Given the description of an element on the screen output the (x, y) to click on. 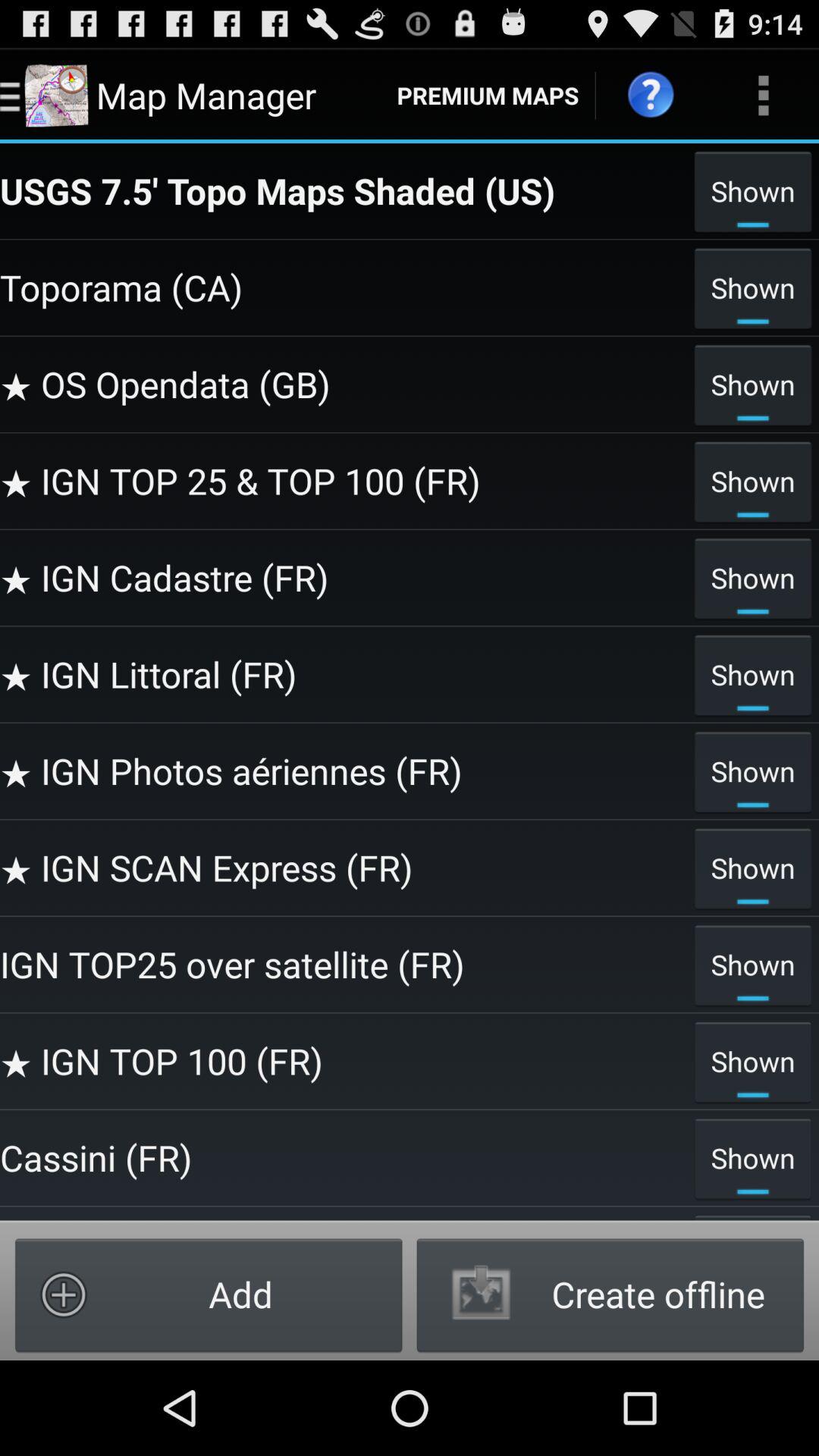
open the ign scan express (343, 867)
